Given the description of an element on the screen output the (x, y) to click on. 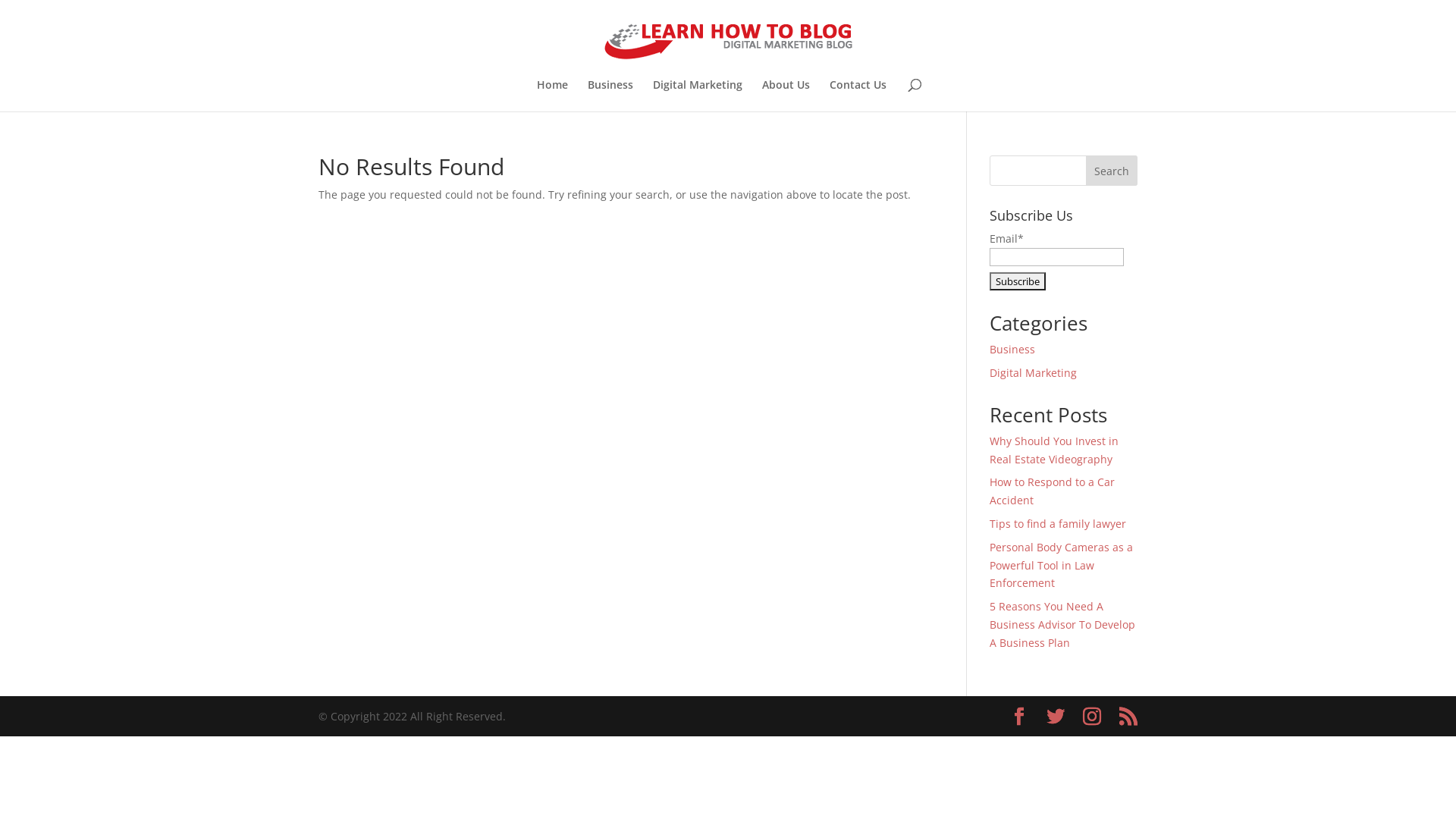
Personal Body Cameras as a Powerful Tool in Law Enforcement Element type: text (1060, 564)
Search Element type: text (1111, 170)
Subscribe Element type: text (1017, 281)
Home Element type: text (551, 95)
Digital Marketing Element type: text (696, 95)
Why Should You Invest in Real Estate Videography Element type: text (1053, 449)
Digital Marketing Element type: text (1032, 372)
Contact Us Element type: text (857, 95)
How to Respond to a Car Accident Element type: text (1051, 490)
About Us Element type: text (785, 95)
Business Element type: text (1012, 349)
Tips to find a family lawyer Element type: text (1057, 523)
Business Element type: text (609, 95)
